Given the description of an element on the screen output the (x, y) to click on. 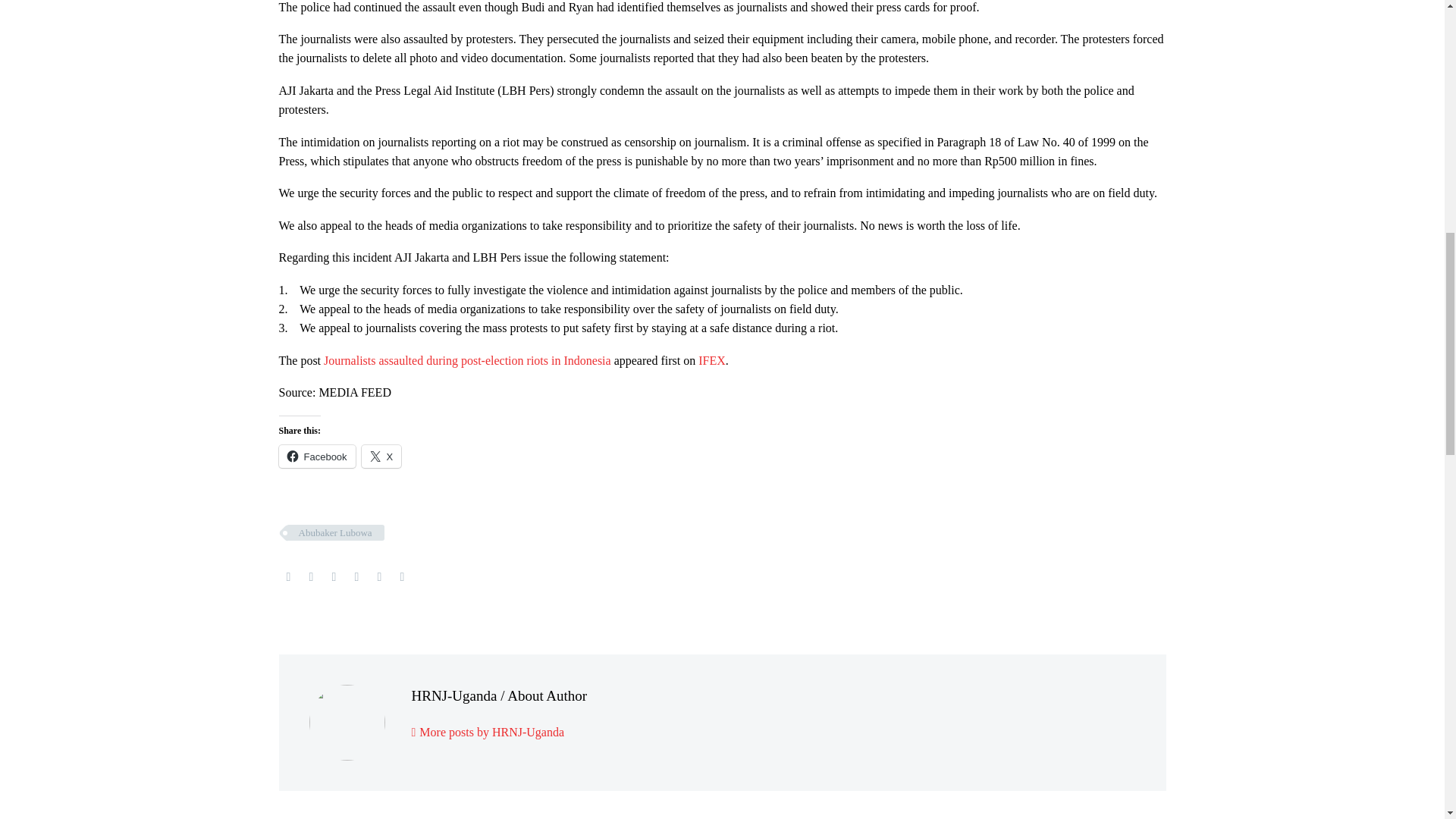
LinkedIn (378, 576)
X (381, 456)
Click to share on Facebook (317, 456)
Facebook (317, 456)
Facebook (288, 576)
Pinterest (333, 576)
Reddit (401, 576)
Tumblr (356, 576)
Click to share on X (381, 456)
IFEX (711, 359)
